Given the description of an element on the screen output the (x, y) to click on. 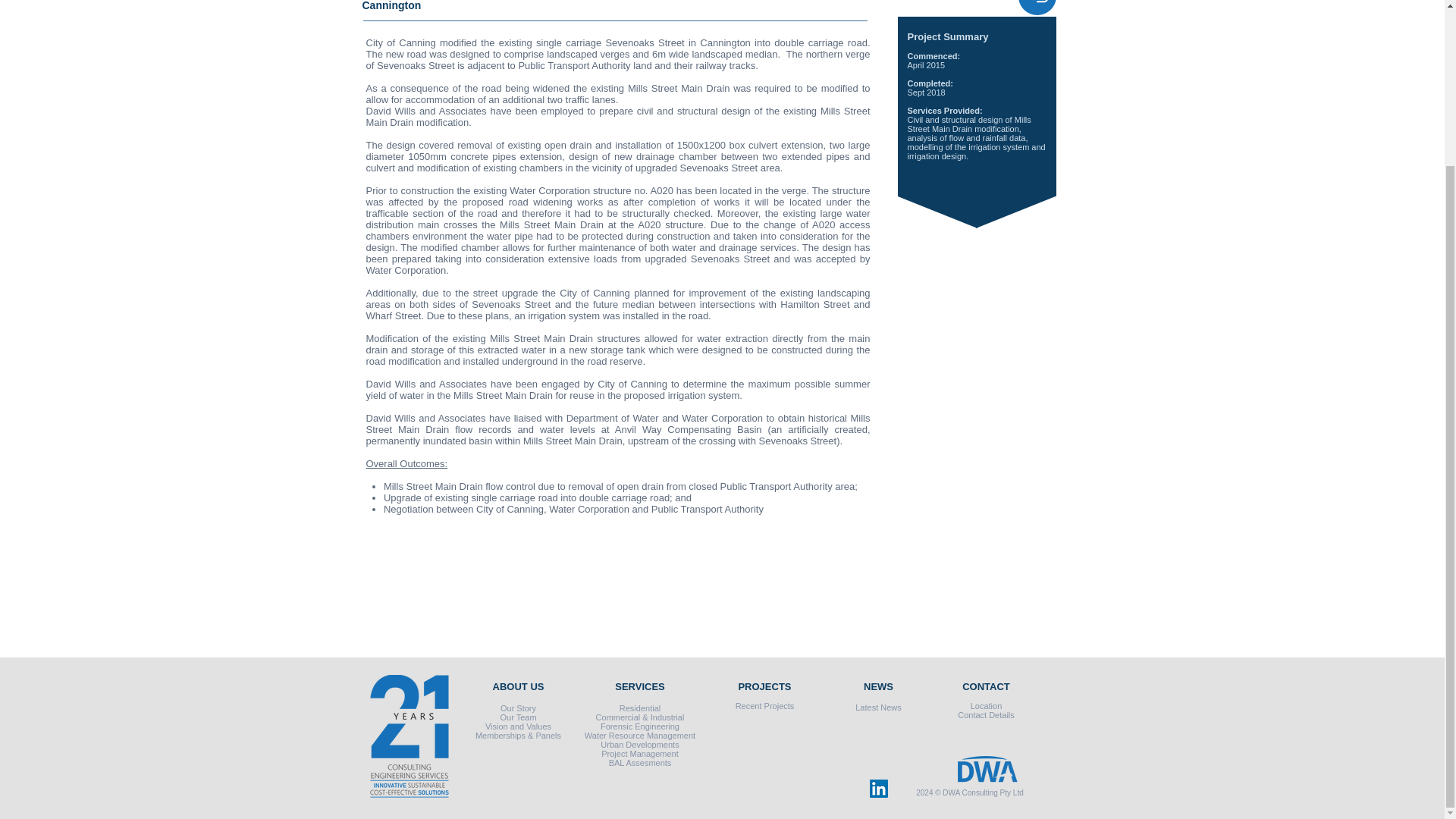
Our Story (517, 707)
Forensic Engineering (639, 726)
Water Resource Management (640, 735)
Urban Developments (638, 744)
Residential (640, 707)
Project Management (639, 753)
Our Team (517, 716)
Latest News (878, 706)
Recent Projects (764, 705)
BAL Assesments (639, 762)
Vision and Values (517, 726)
Location (987, 705)
Contact Details (986, 714)
